Given the description of an element on the screen output the (x, y) to click on. 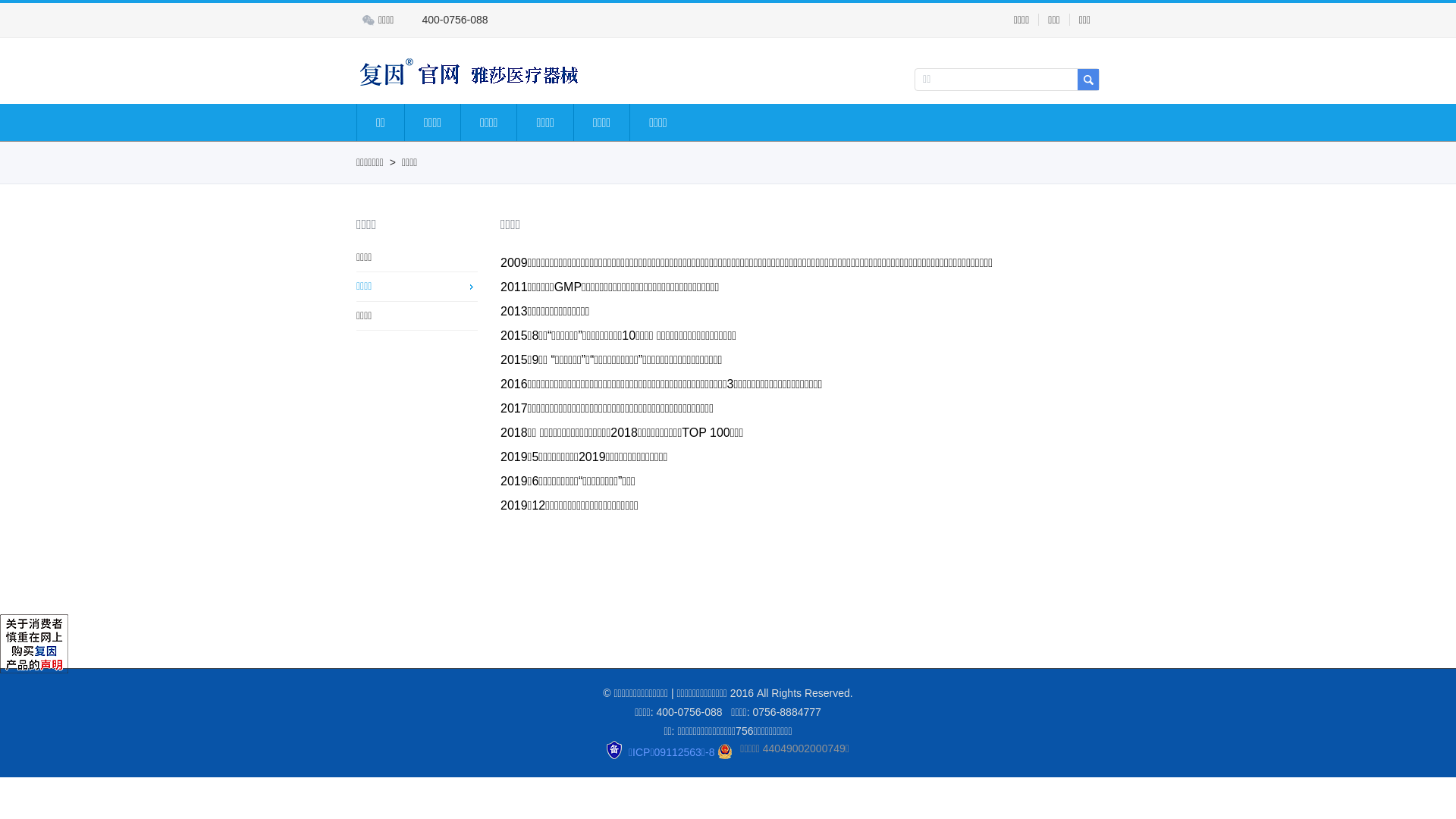
400-0756-088 Element type: text (446, 20)
